Given the description of an element on the screen output the (x, y) to click on. 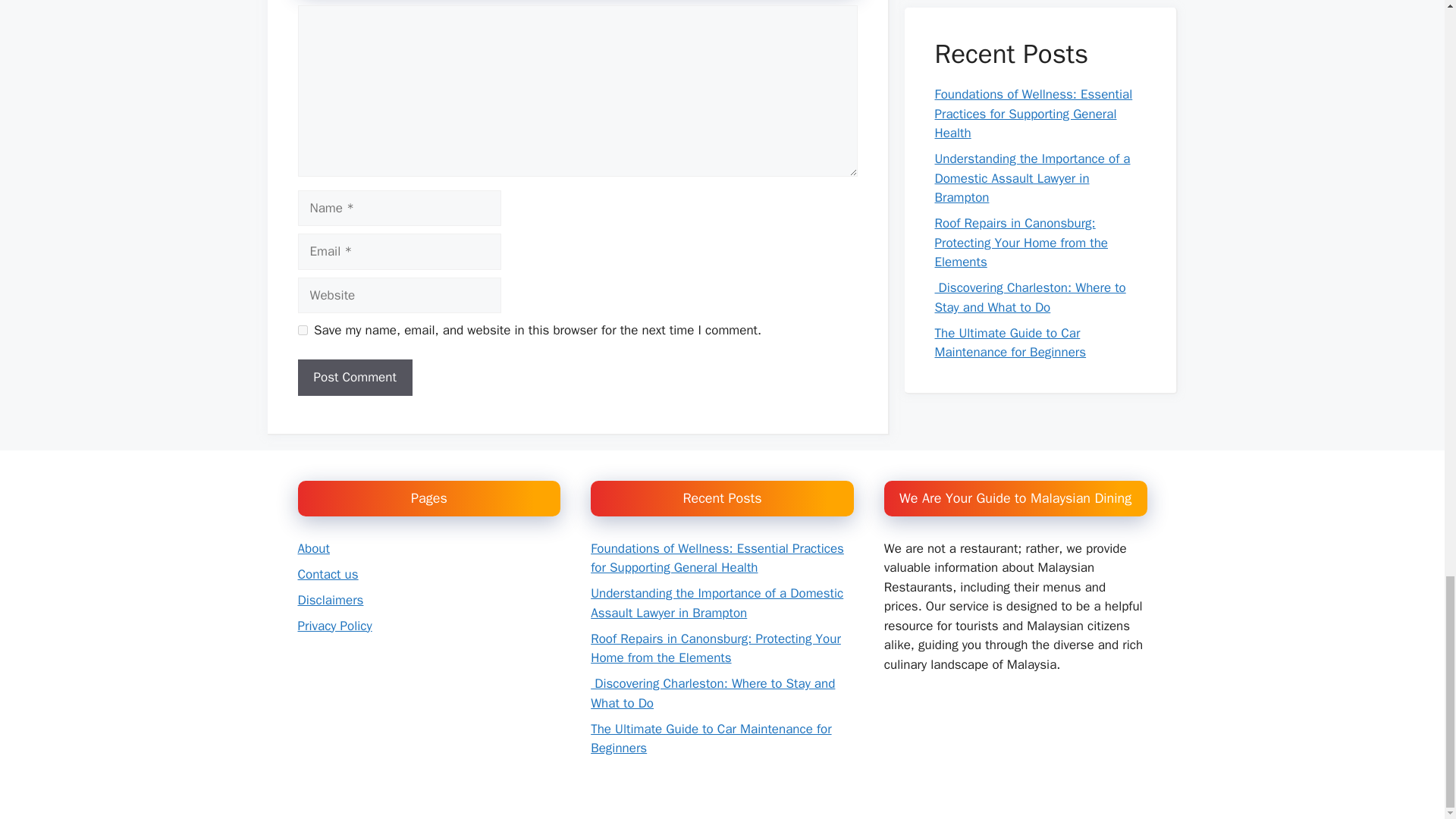
About (313, 548)
Privacy Policy (334, 625)
yes (302, 329)
Contact us (327, 574)
Post Comment (354, 377)
Post Comment (354, 377)
The Ultimate Guide to Car Maintenance for Beginners (711, 738)
Disclaimers (329, 600)
 Discovering Charleston: Where to Stay and What to Do (712, 693)
